Given the description of an element on the screen output the (x, y) to click on. 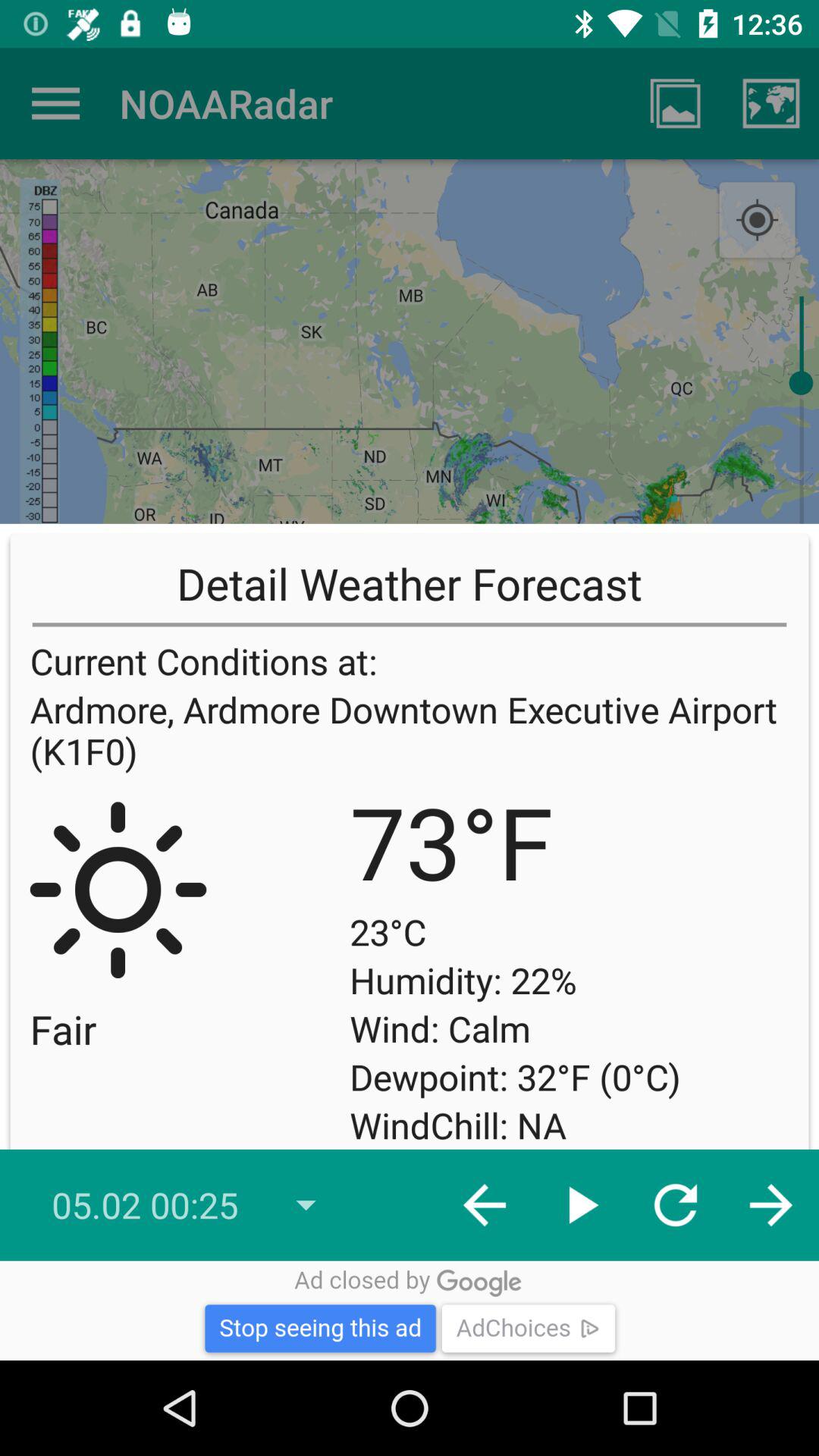
click to stop seeing this advertisement (409, 1310)
